Given the description of an element on the screen output the (x, y) to click on. 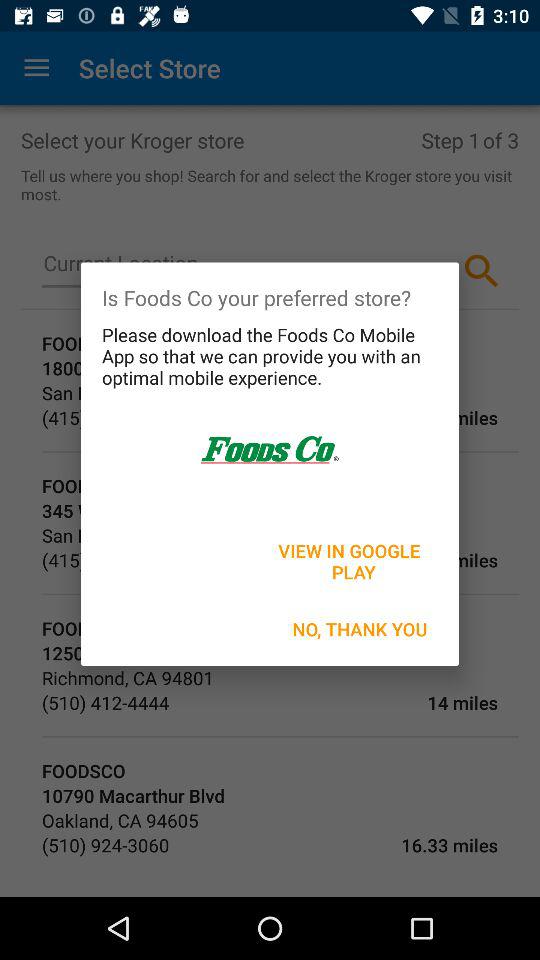
open item below view in google icon (359, 628)
